Given the description of an element on the screen output the (x, y) to click on. 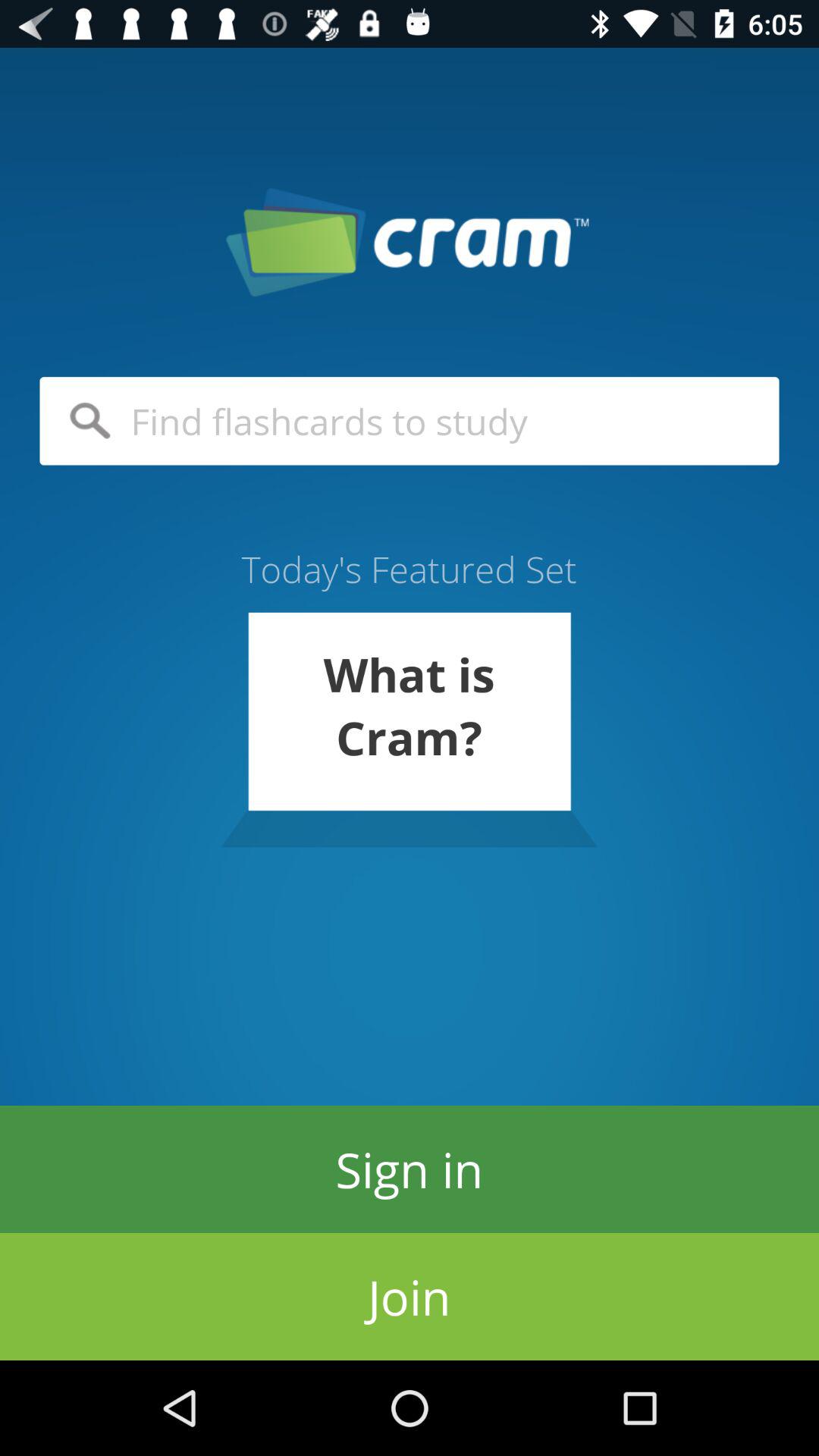
turn on the join item (409, 1296)
